Given the description of an element on the screen output the (x, y) to click on. 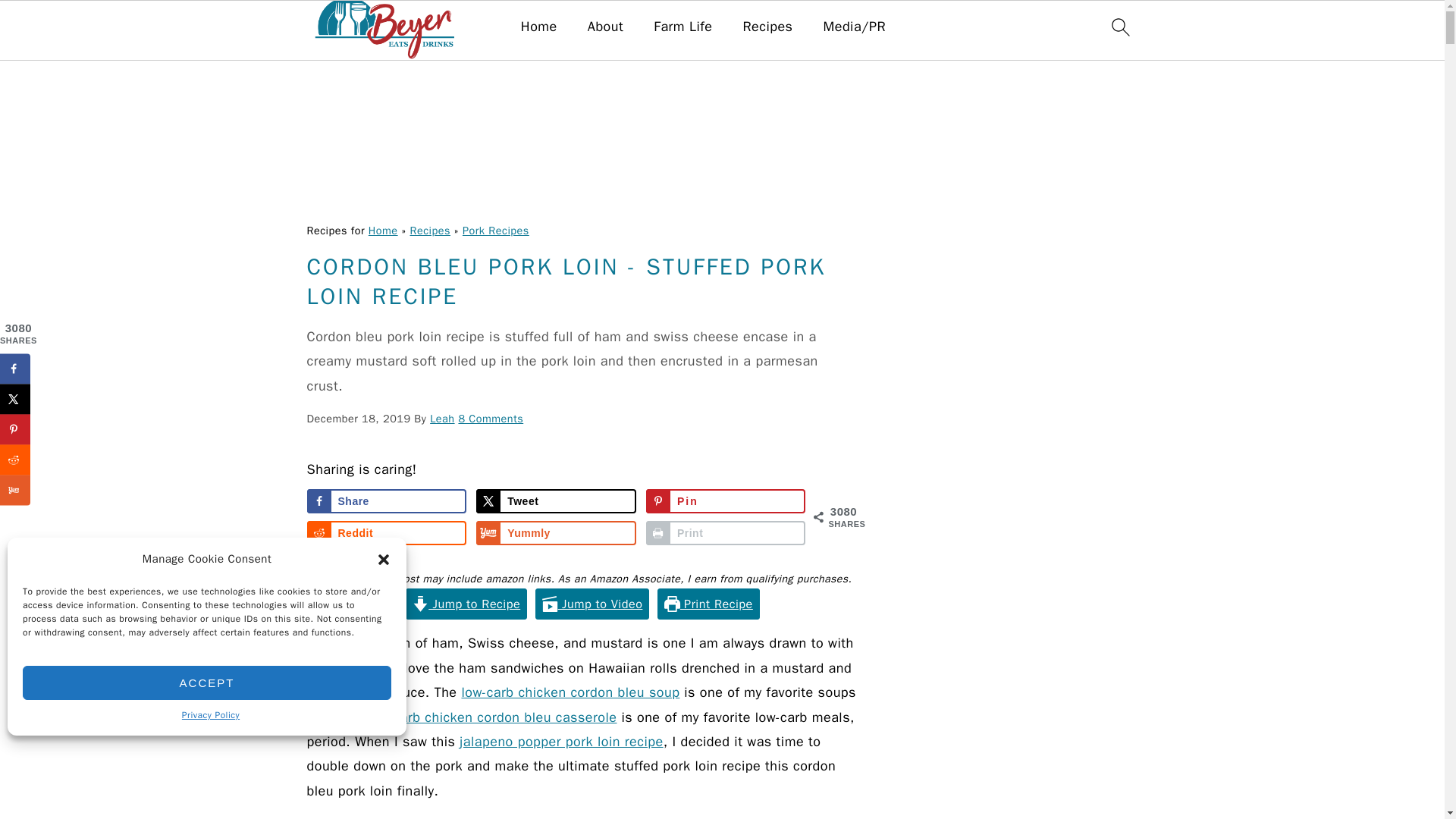
Save to Pinterest (726, 500)
Share on Reddit (385, 532)
Share on Facebook (385, 500)
Print this webpage (726, 532)
search icon (1119, 26)
ACCEPT (207, 682)
Share on X (556, 500)
Privacy Policy (211, 715)
Share on Yummly (556, 532)
